Given the description of an element on the screen output the (x, y) to click on. 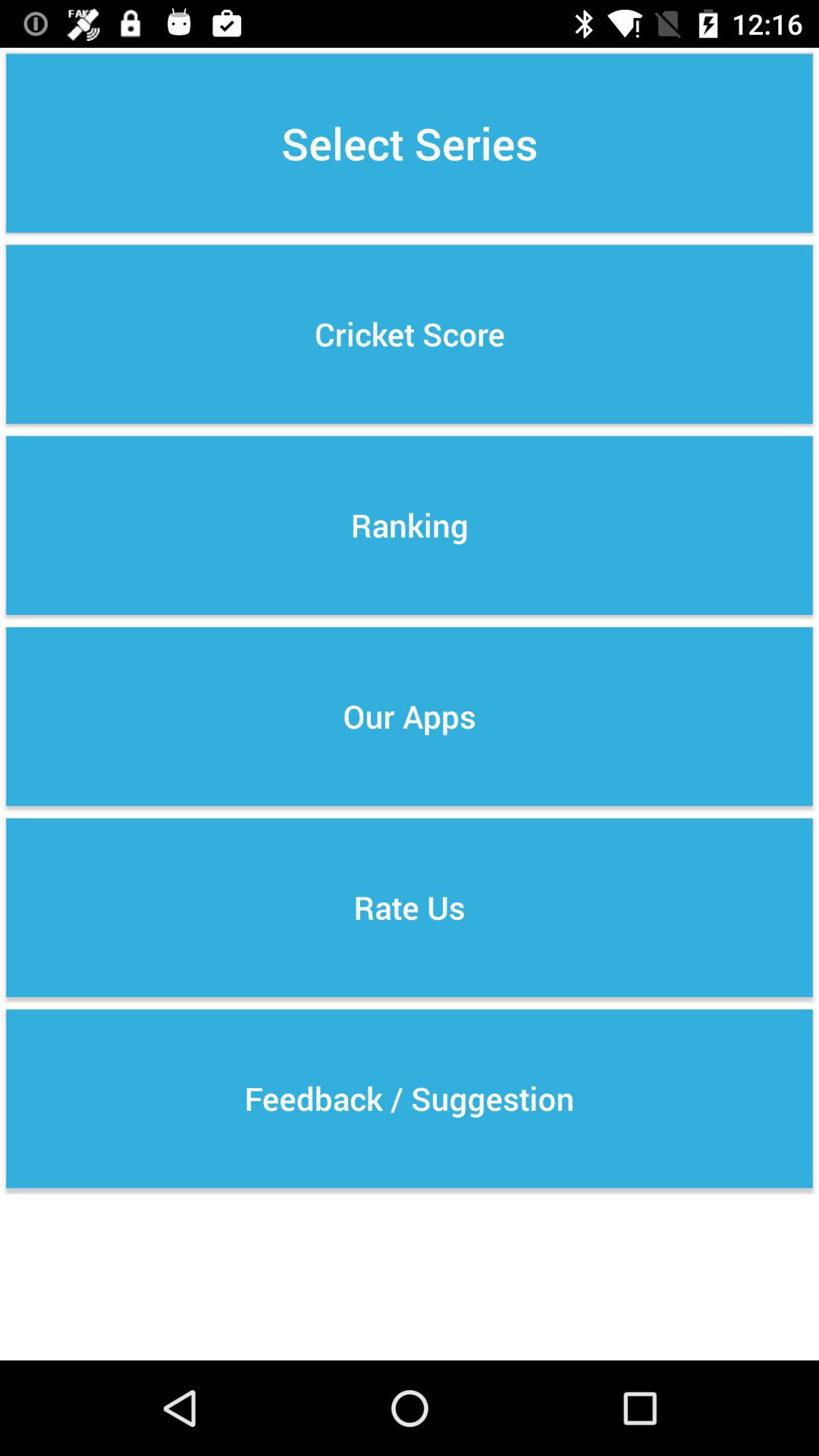
press the icon below ranking item (409, 716)
